Given the description of an element on the screen output the (x, y) to click on. 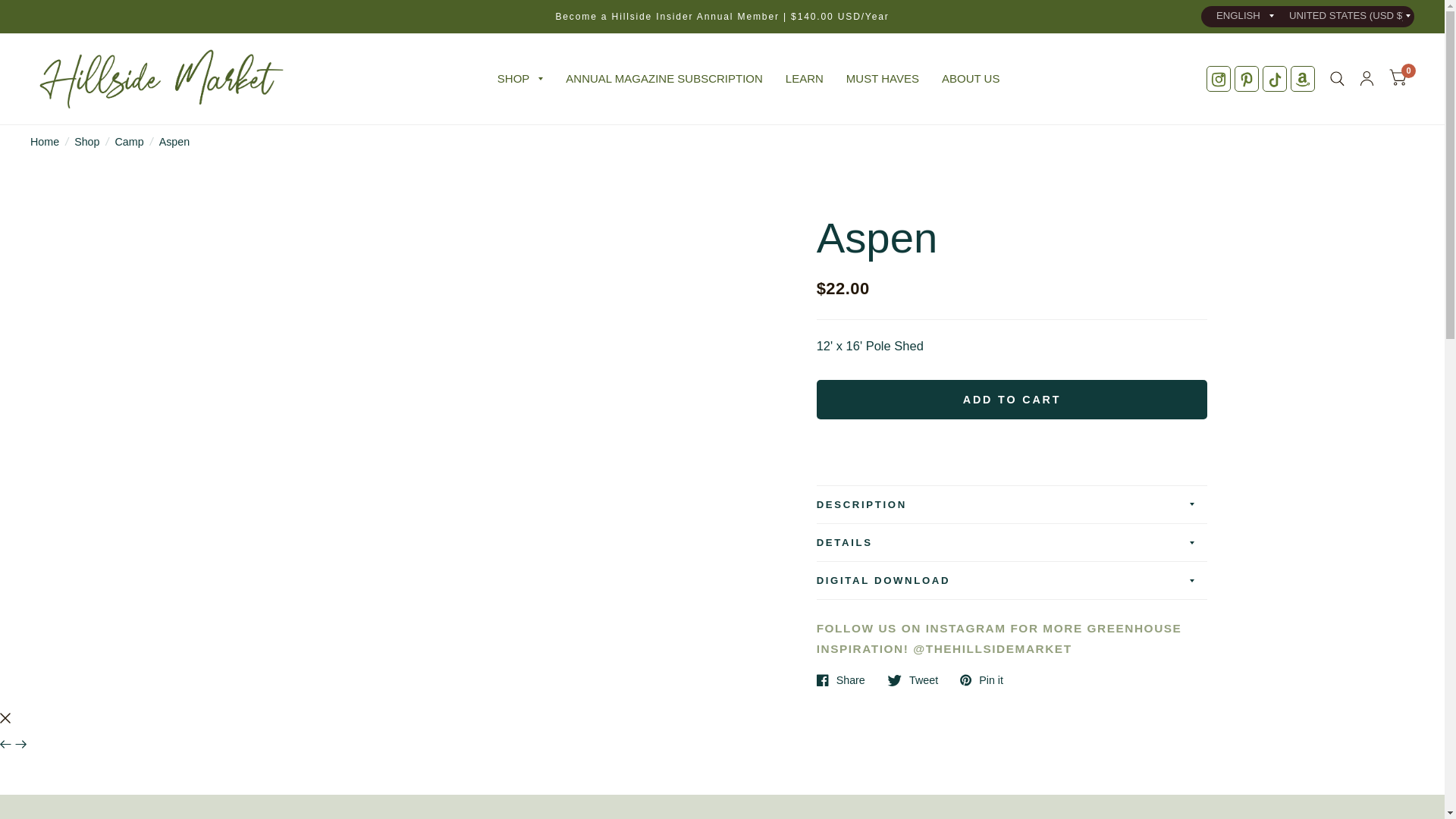
MUST HAVES (881, 78)
ABOUT US (970, 78)
Shop (520, 78)
LEARN (805, 78)
ANNUAL MAGAZINE SUBSCRIPTION (663, 78)
SHOP (520, 78)
